Given the description of an element on the screen output the (x, y) to click on. 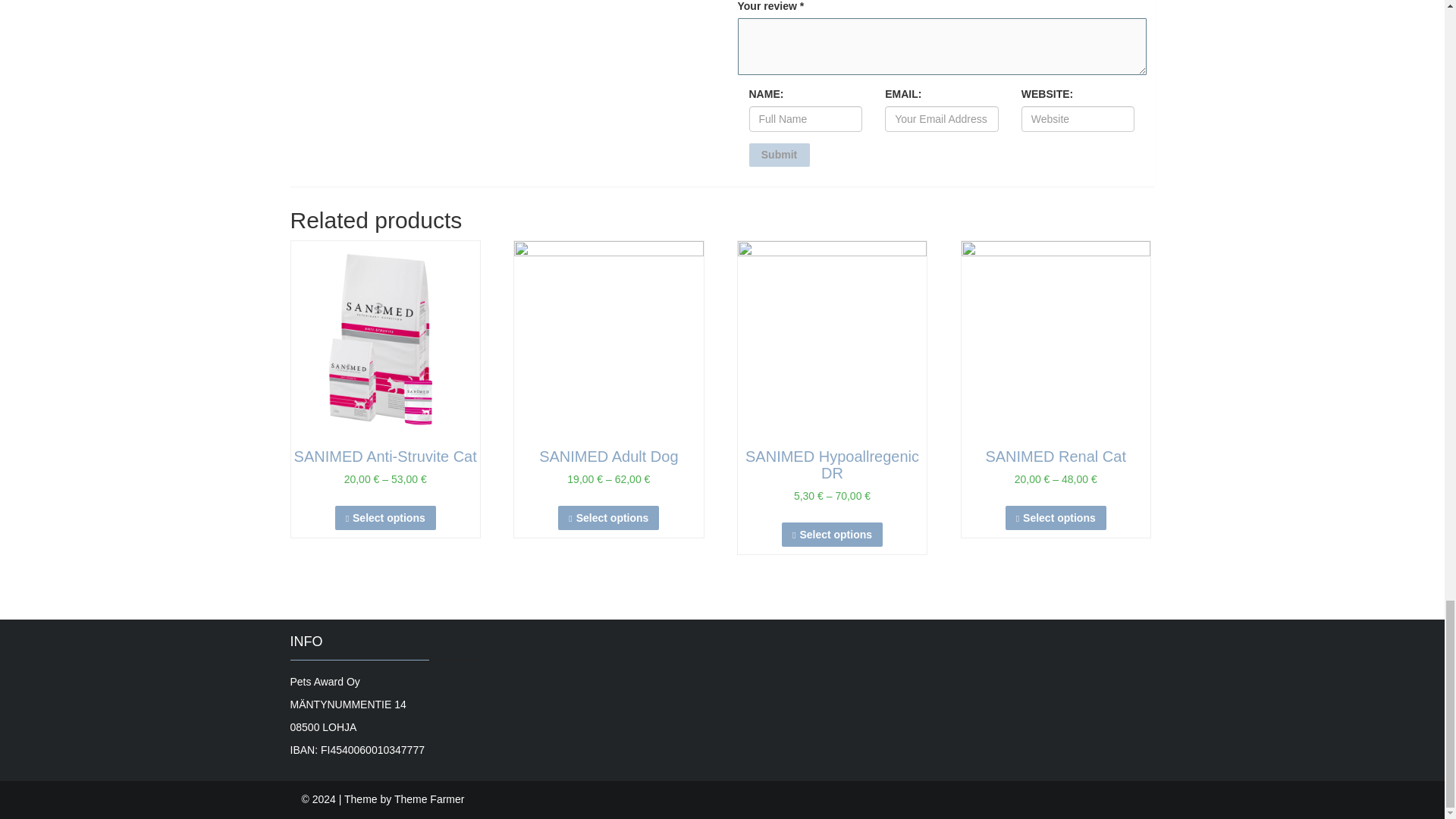
Submit (779, 155)
Select options (831, 534)
Select options (608, 517)
Select options (1056, 517)
Submit (779, 155)
Select options (384, 517)
